Given the description of an element on the screen output the (x, y) to click on. 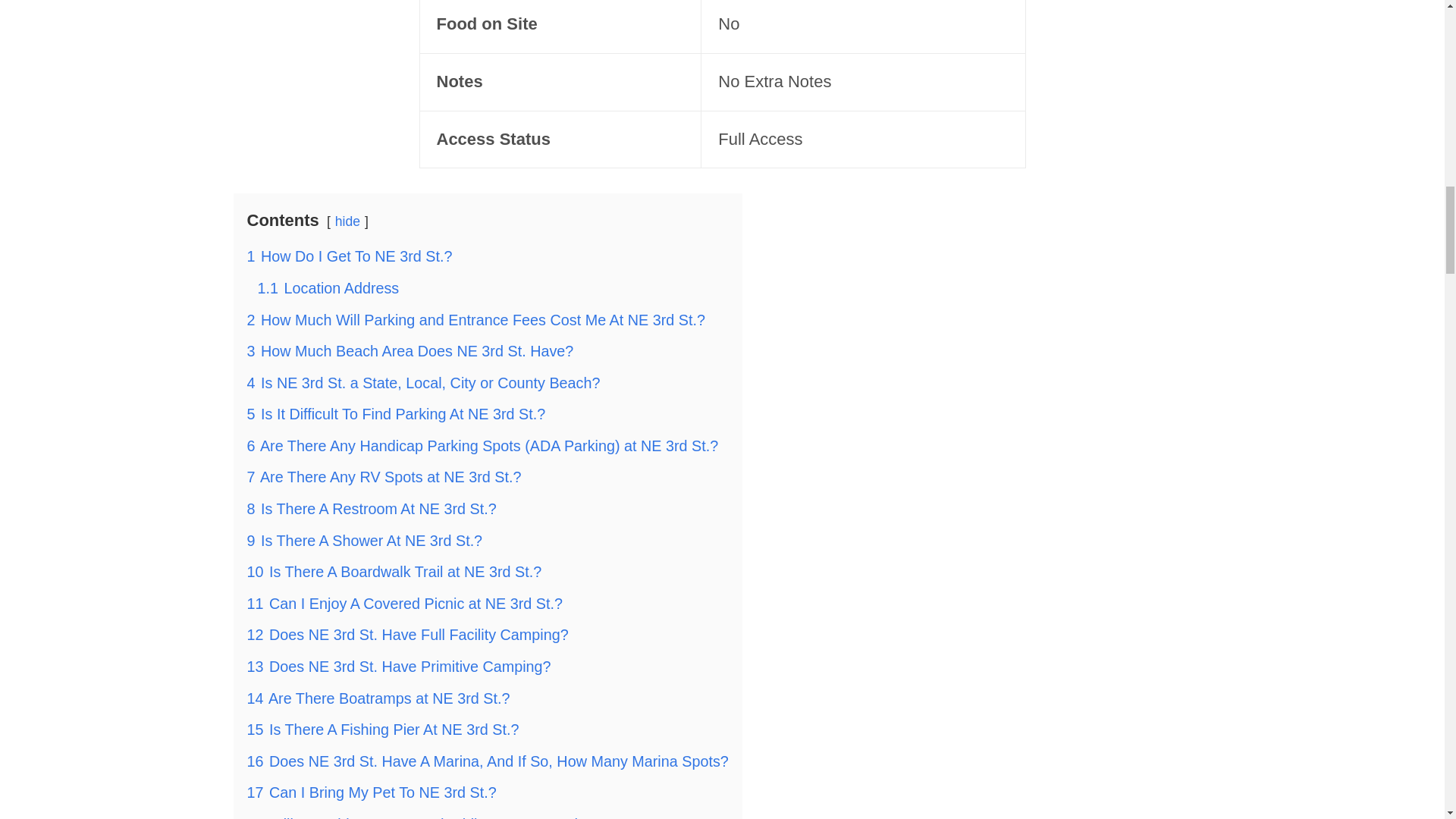
12 Does NE 3rd St. Have Full Facility Camping? (408, 634)
3 How Much Beach Area Does NE 3rd St. Have? (410, 351)
8 Is There A Restroom At NE 3rd St.? (371, 508)
1.1 Location Address (327, 288)
13 Does NE 3rd St. Have Primitive Camping? (399, 666)
4 Is NE 3rd St. a State, Local, City or County Beach? (423, 382)
hide (346, 221)
7 Are There Any RV Spots at NE 3rd St.? (384, 476)
1 How Do I Get To NE 3rd St.? (349, 256)
9 Is There A Shower At NE 3rd St.? (365, 540)
11 Can I Enjoy A Covered Picnic at NE 3rd St.? (405, 603)
5 Is It Difficult To Find Parking At NE 3rd St.? (396, 413)
10 Is There A Boardwalk Trail at NE 3rd St.? (394, 571)
